Given the description of an element on the screen output the (x, y) to click on. 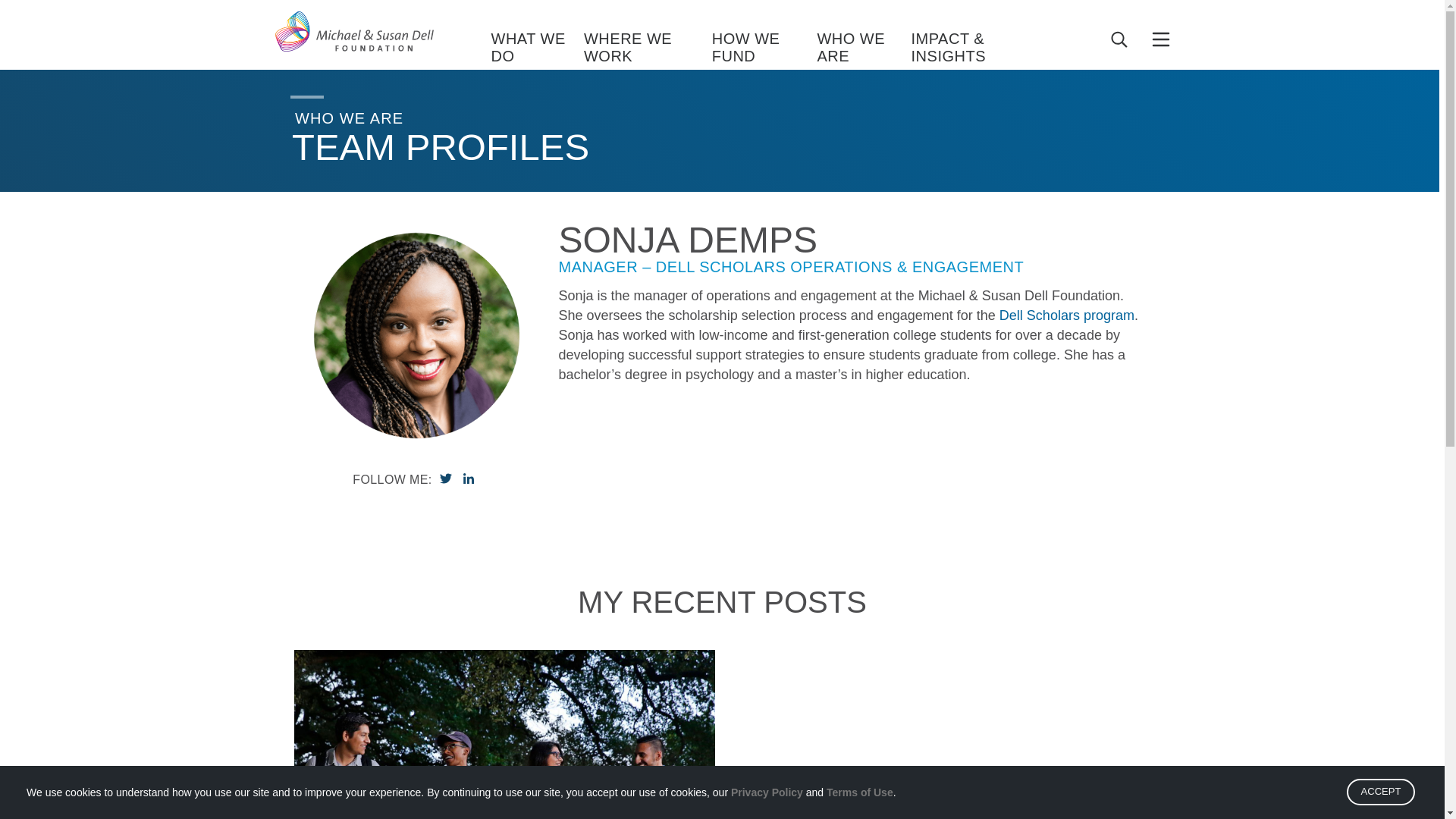
WHERE WE WORK (647, 49)
WHAT WE DO (537, 49)
HOW WE FUND (763, 49)
WHO WE ARE (863, 49)
